Given the description of an element on the screen output the (x, y) to click on. 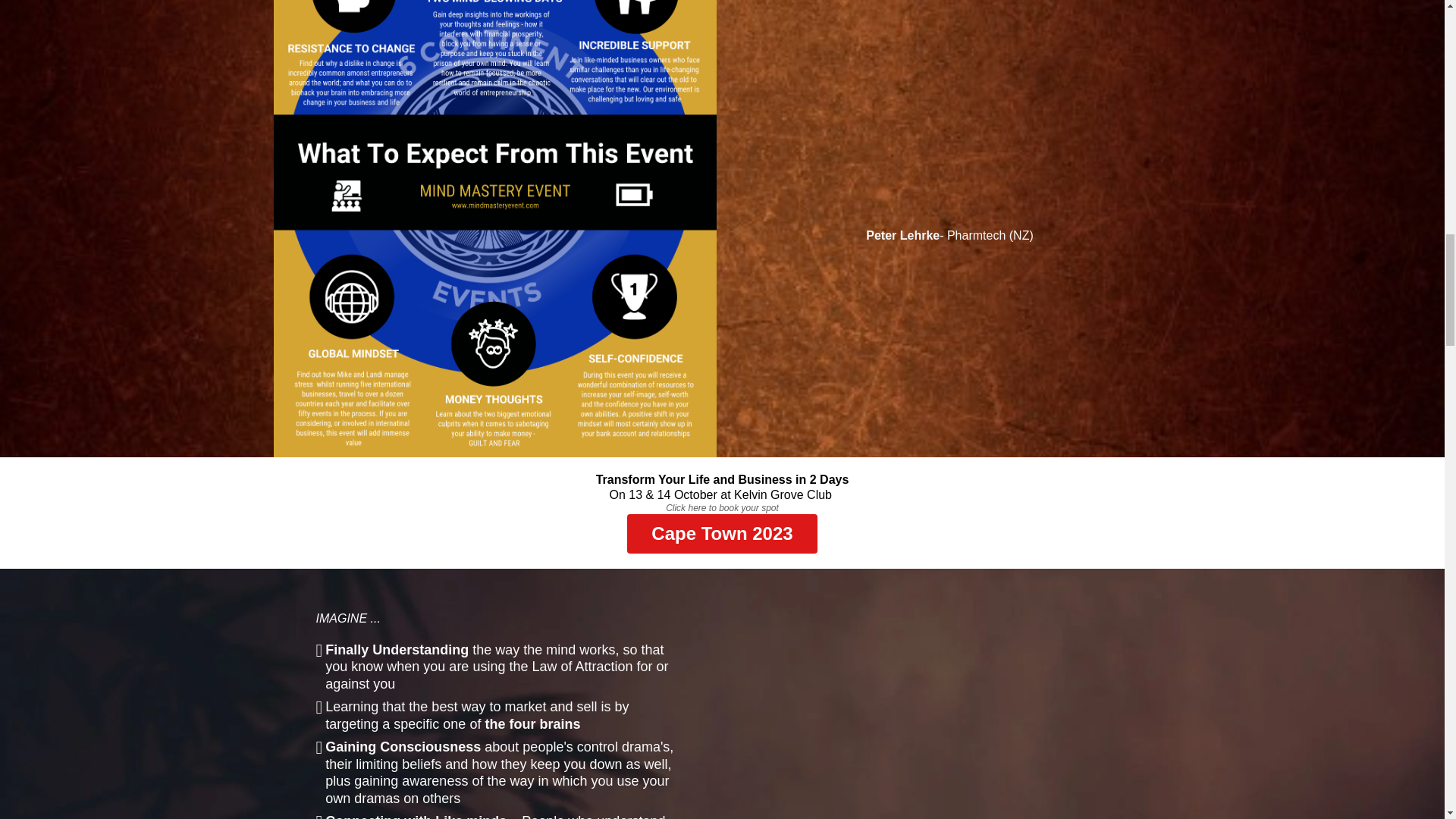
Cape Town 2023 (721, 533)
